Given the description of an element on the screen output the (x, y) to click on. 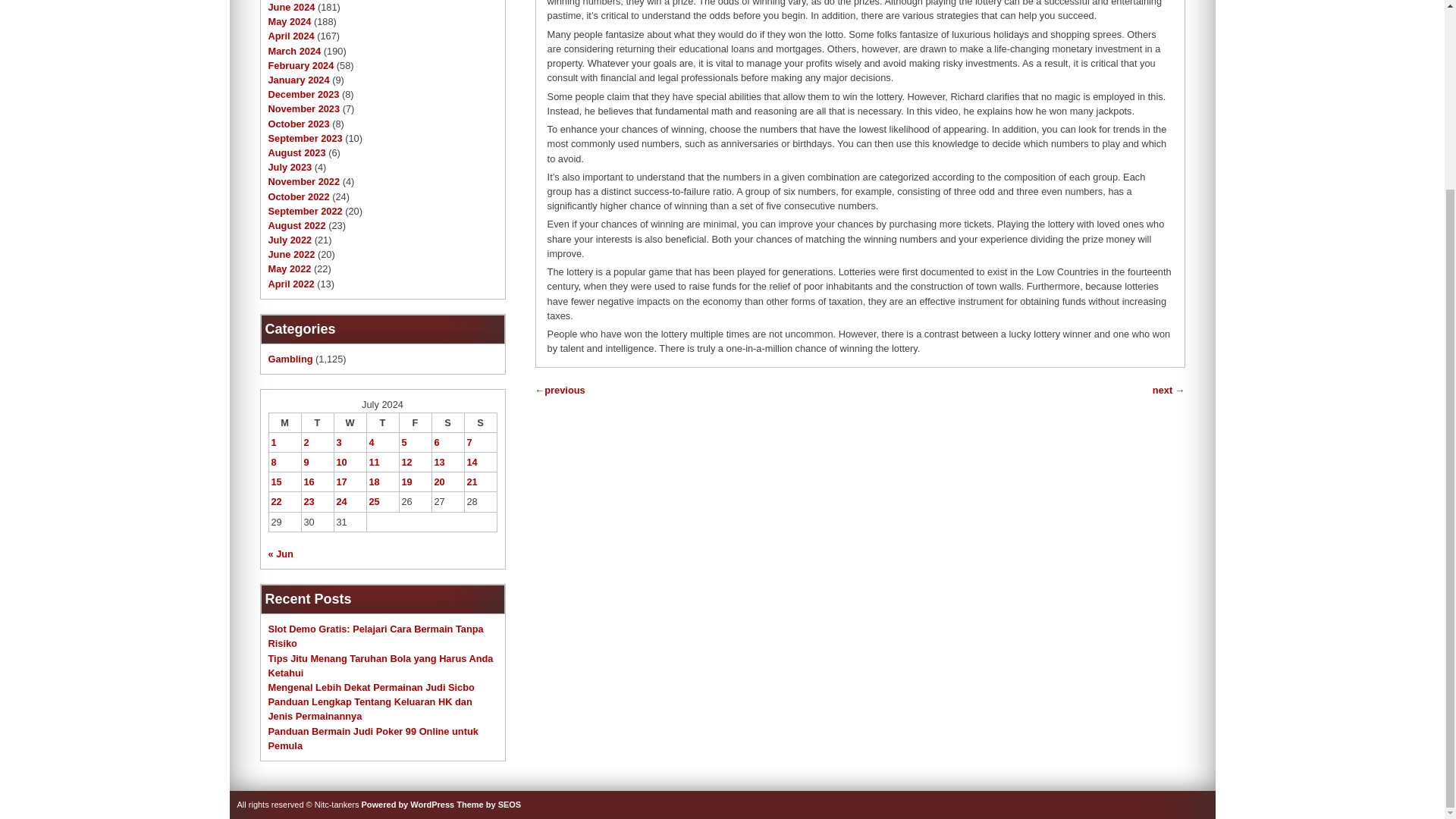
December 2023 (303, 93)
September 2023 (304, 138)
Thursday (382, 422)
June 2024 (291, 7)
Seos free wordpress themes (489, 804)
Gambling (290, 358)
January 2024 (298, 79)
July 2023 (290, 166)
June 2022 (291, 254)
May 2024 (289, 21)
Monday (284, 422)
Friday (414, 422)
August 2022 (296, 225)
July 2022 (290, 239)
November 2023 (303, 108)
